Given the description of an element on the screen output the (x, y) to click on. 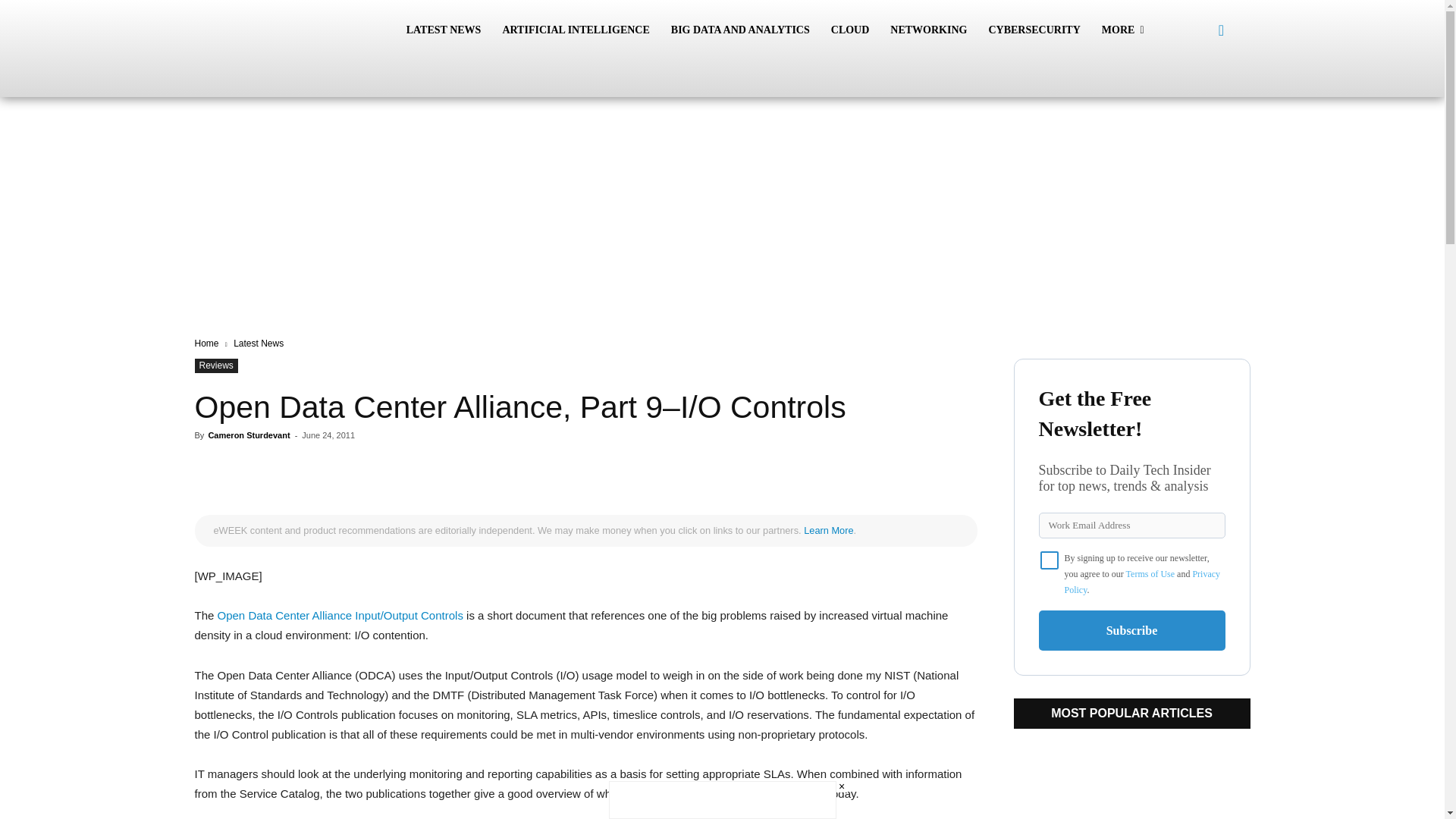
ARTIFICIAL INTELLIGENCE (575, 30)
on (1049, 560)
NETWORKING (927, 30)
CLOUD (850, 30)
LATEST NEWS (444, 30)
CYBERSECURITY (1033, 30)
BIG DATA AND ANALYTICS (741, 30)
